Given the description of an element on the screen output the (x, y) to click on. 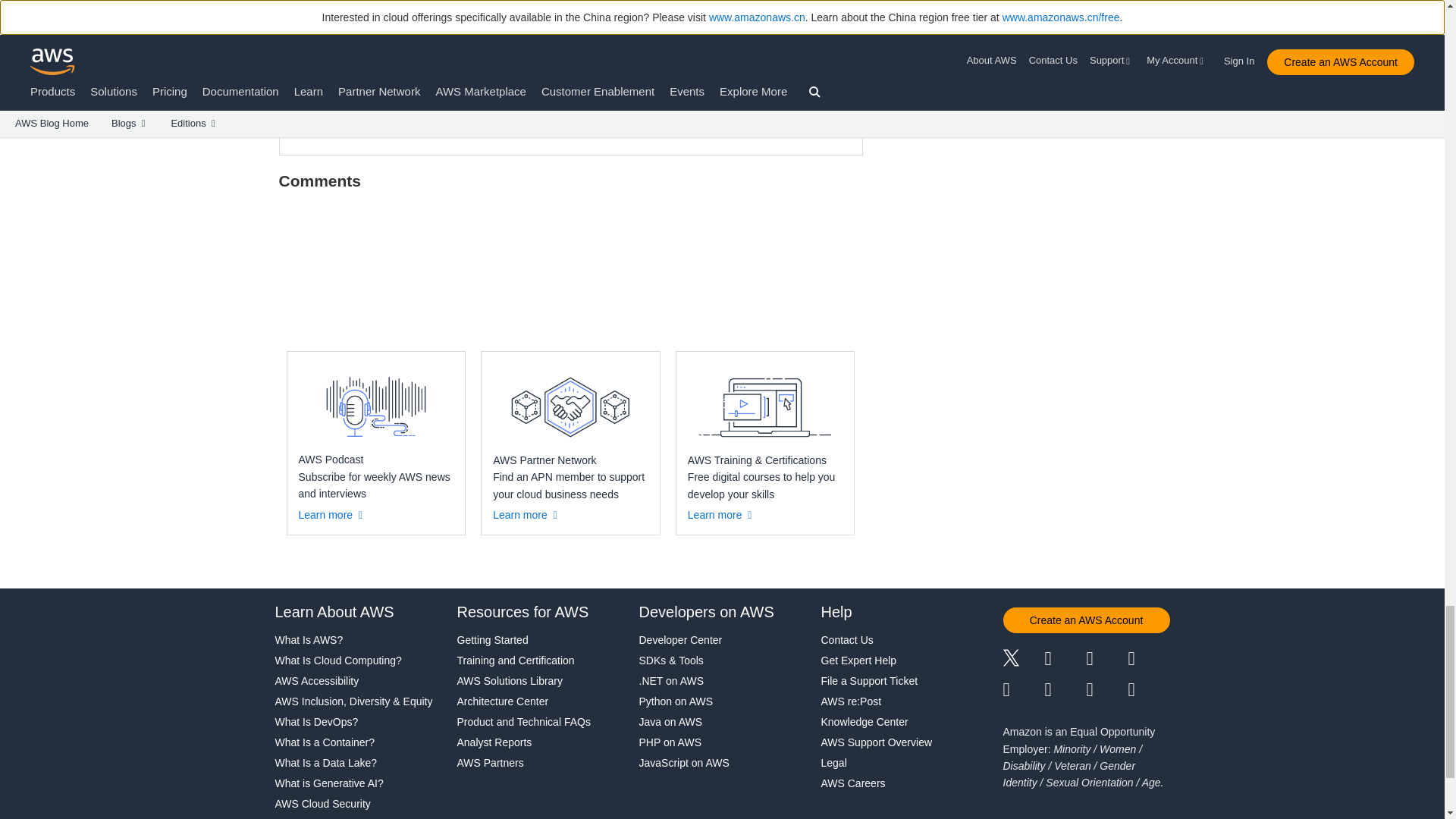
Posts by Mark Schwartz (442, 26)
